Given the description of an element on the screen output the (x, y) to click on. 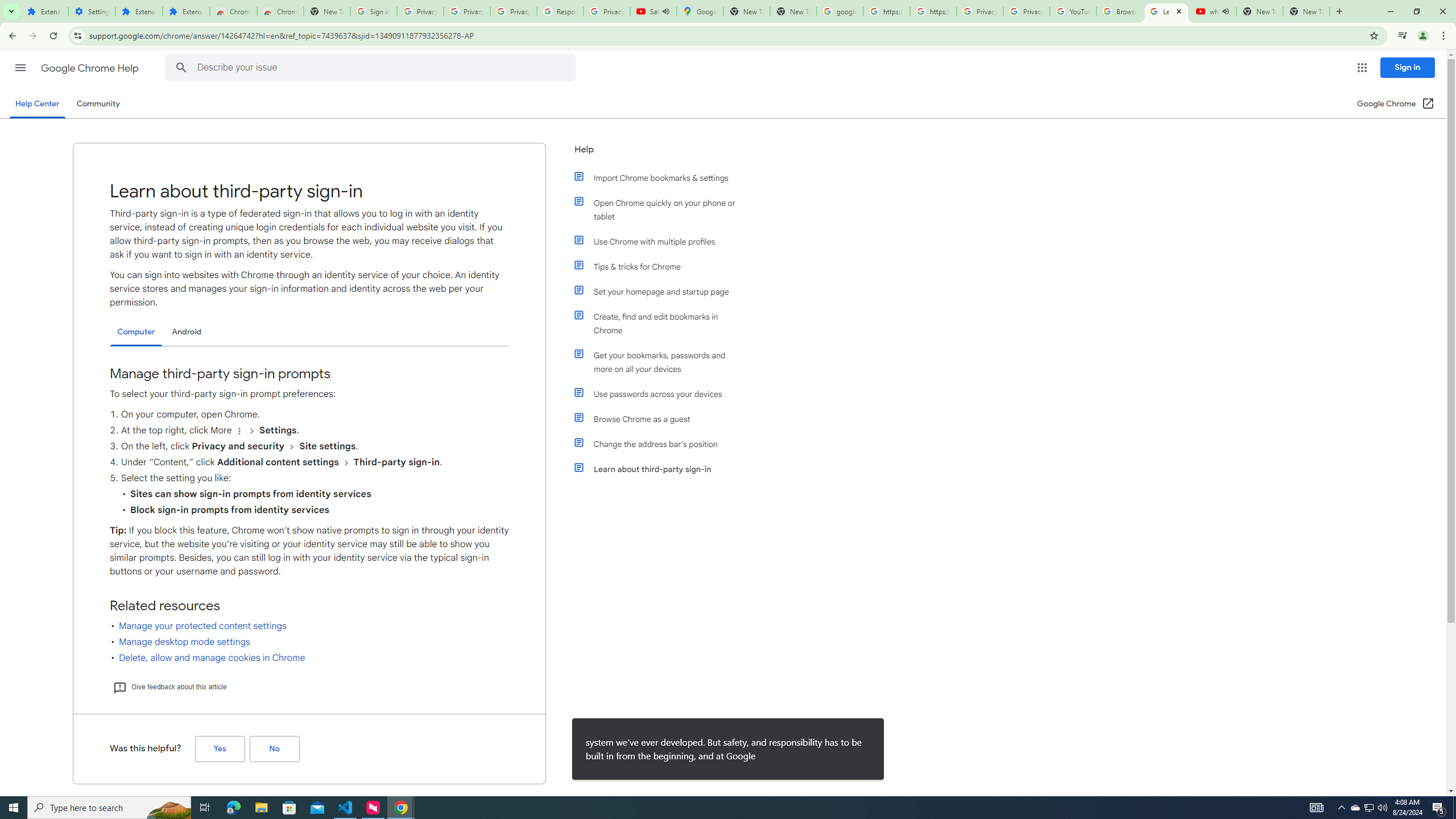
Browse Chrome as a guest (661, 419)
Use passwords across your devices (661, 394)
Manage desktop mode settings (184, 641)
Extensions (44, 11)
Android (186, 331)
Extensions (138, 11)
Open Chrome quickly on your phone or tablet (661, 209)
https://scholar.google.com/ (933, 11)
Google Maps (699, 11)
